Given the description of an element on the screen output the (x, y) to click on. 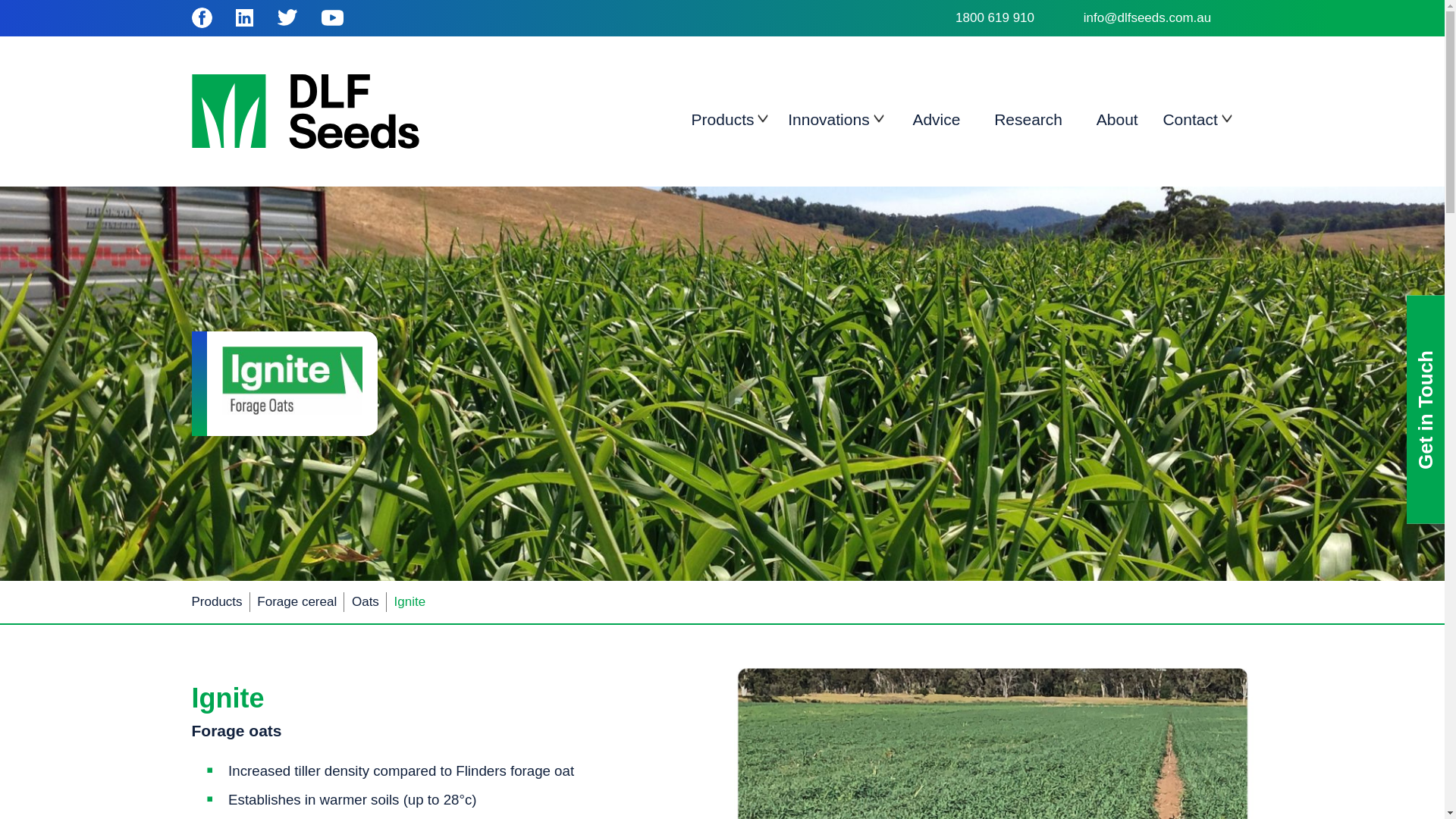
DLF Seeds on LinkedIn (243, 17)
Advice (935, 120)
Contact (1189, 120)
DLF Seeds on Twitter (287, 17)
Products (722, 120)
Innovations (828, 120)
1800 619 910 (1017, 17)
DLF Seeds on YouTube (332, 17)
Products (215, 601)
About (1117, 120)
